Given the description of an element on the screen output the (x, y) to click on. 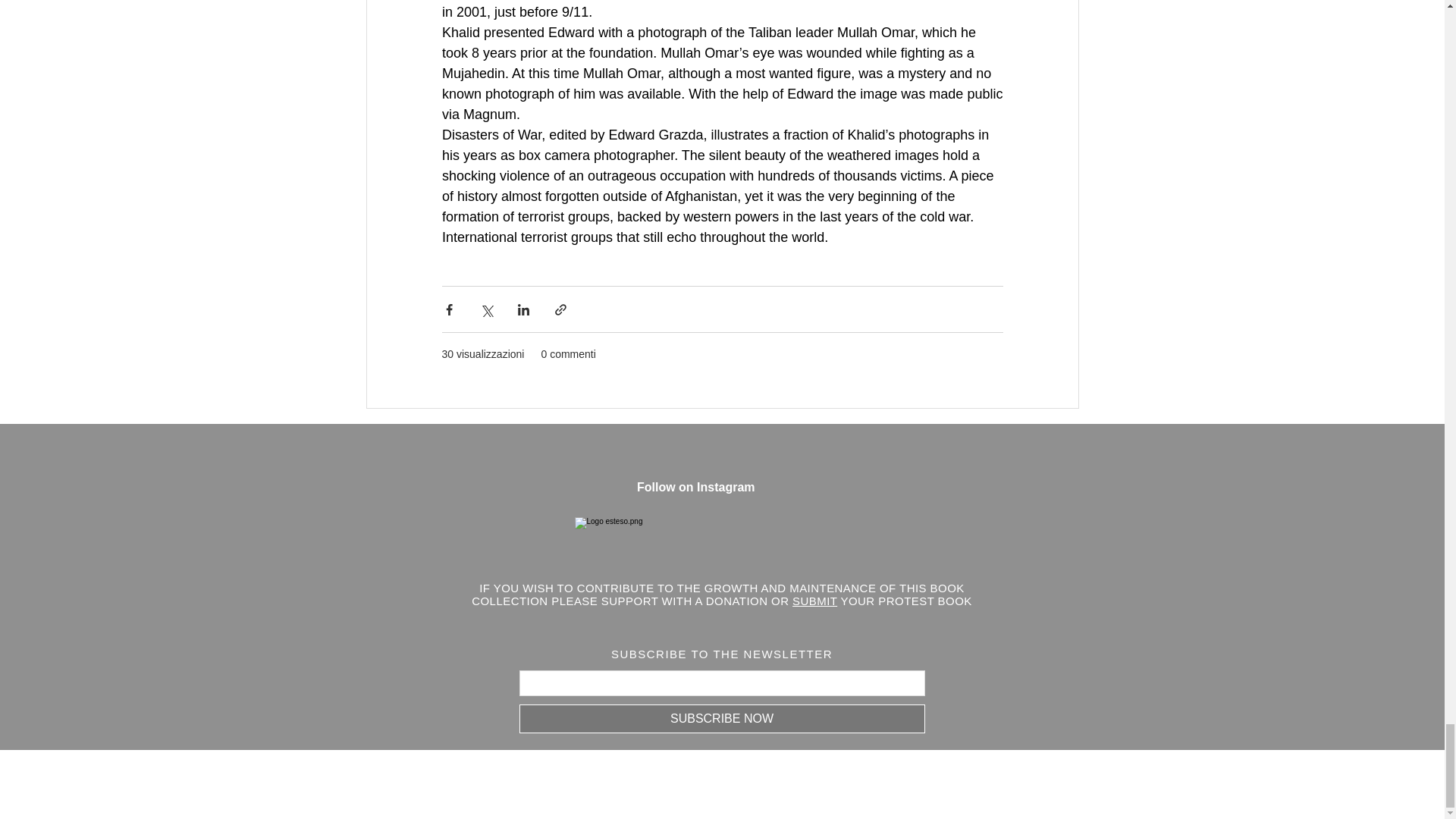
SUBMIT (814, 600)
BITTER JUICE WEB (757, 784)
SUBSCRIBE NOW (721, 718)
